Given the description of an element on the screen output the (x, y) to click on. 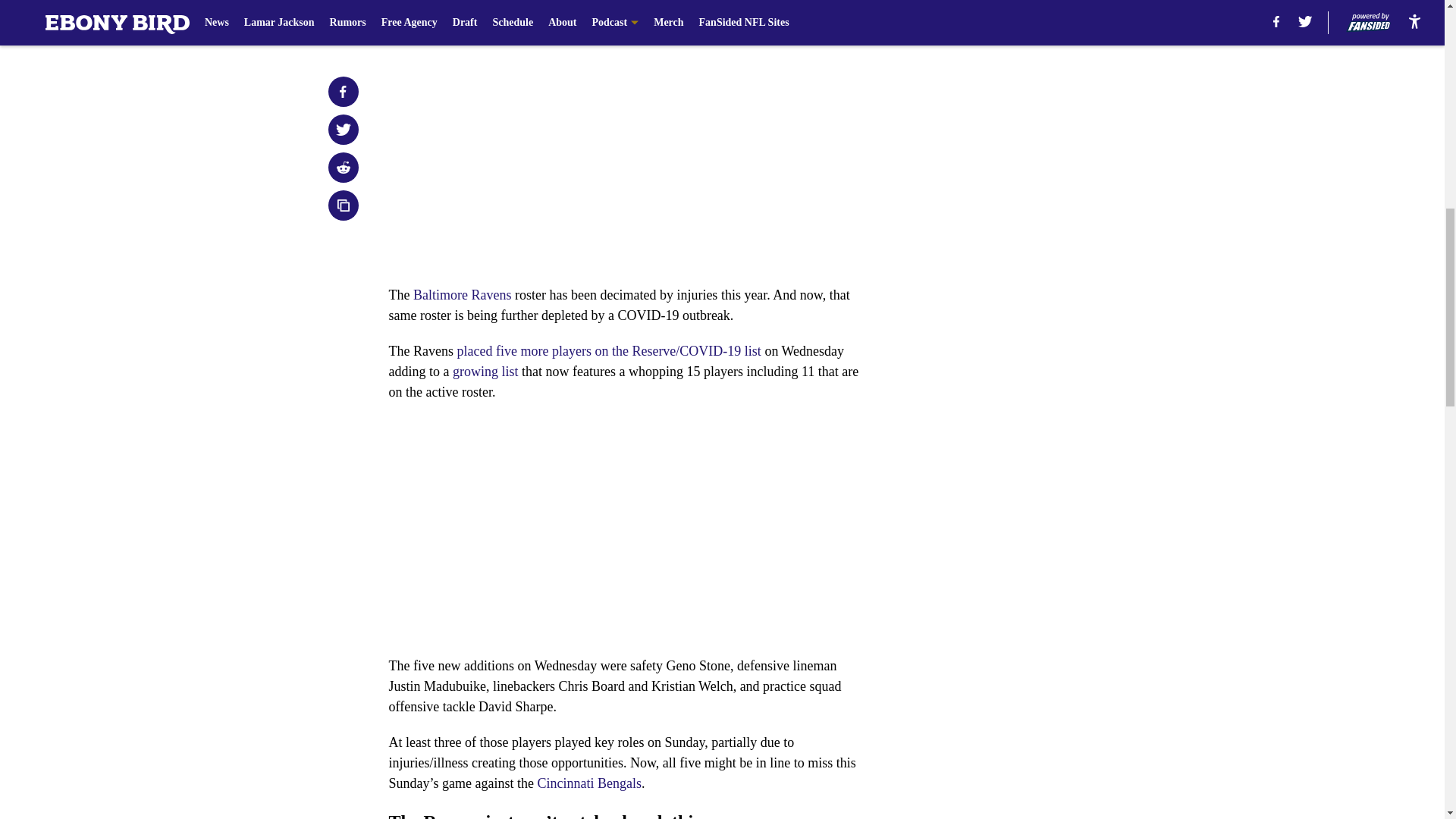
Baltimore Ravens (462, 294)
Cincinnati Bengals (588, 783)
growing list (485, 371)
